Given the description of an element on the screen output the (x, y) to click on. 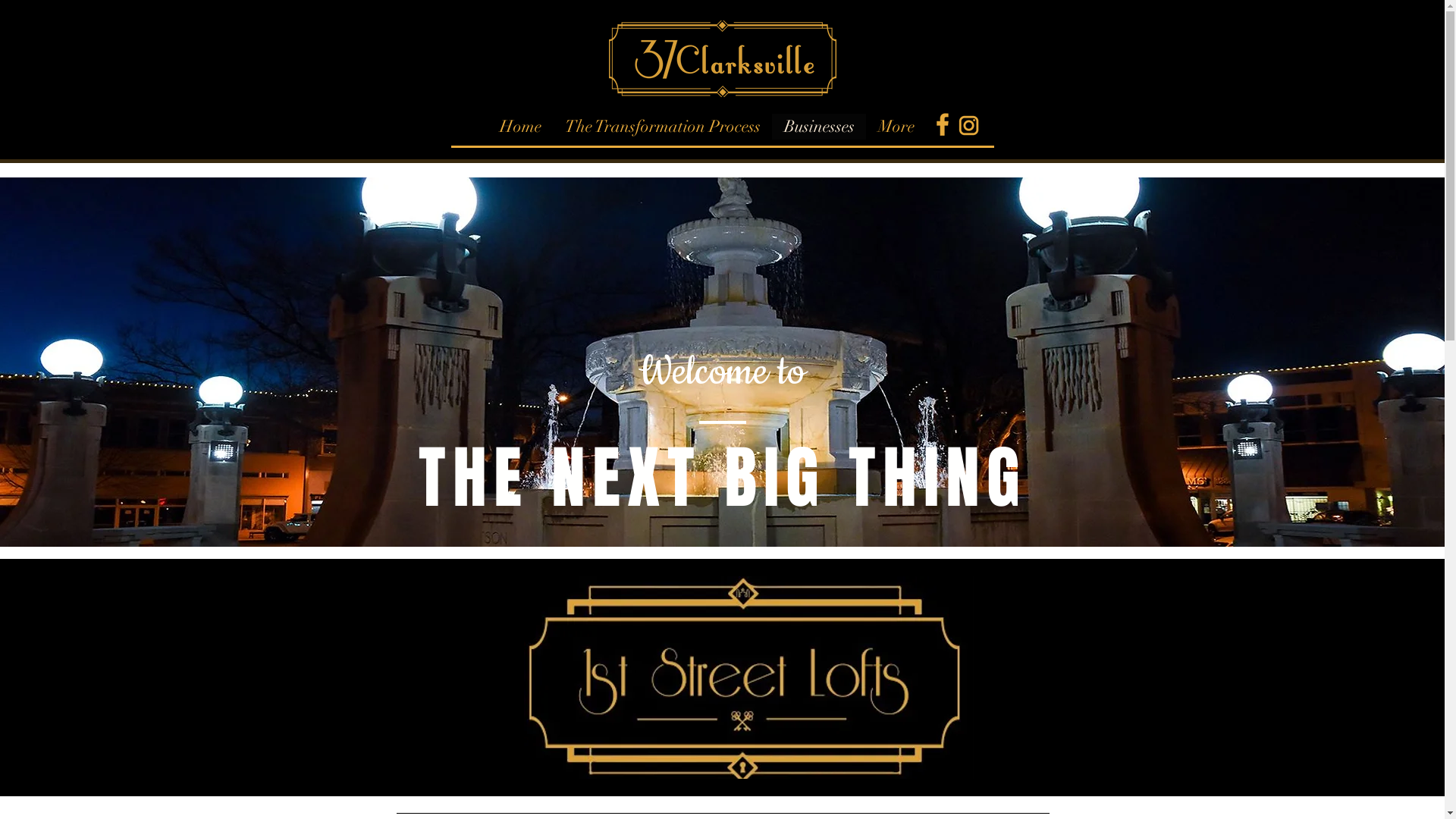
Home Element type: text (519, 126)
The Transformation Process Element type: text (661, 126)
Businesses Element type: text (818, 126)
